Given the description of an element on the screen output the (x, y) to click on. 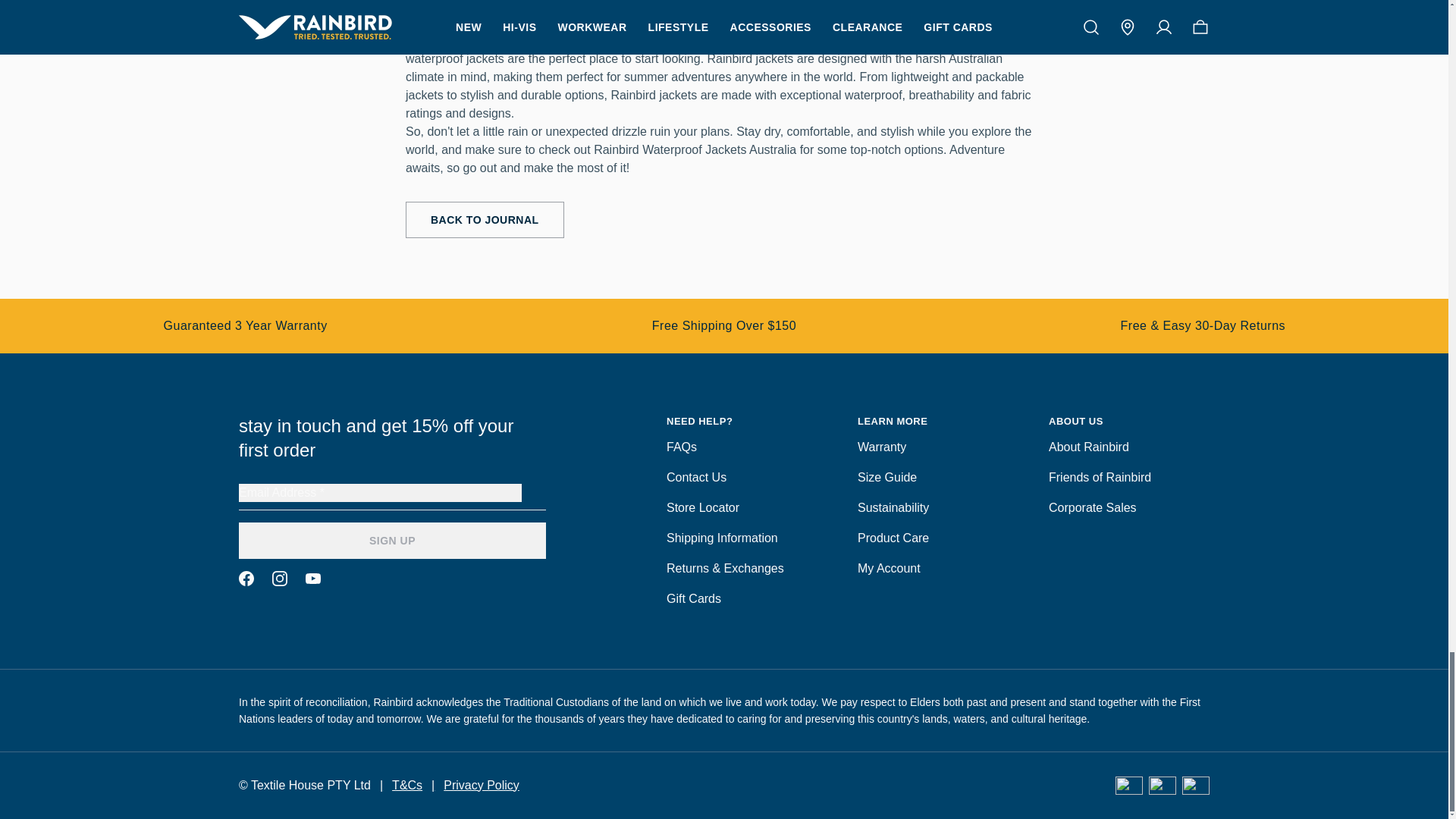
Tiktok (312, 578)
Facebook (245, 578)
Instagram (279, 578)
